Given the description of an element on the screen output the (x, y) to click on. 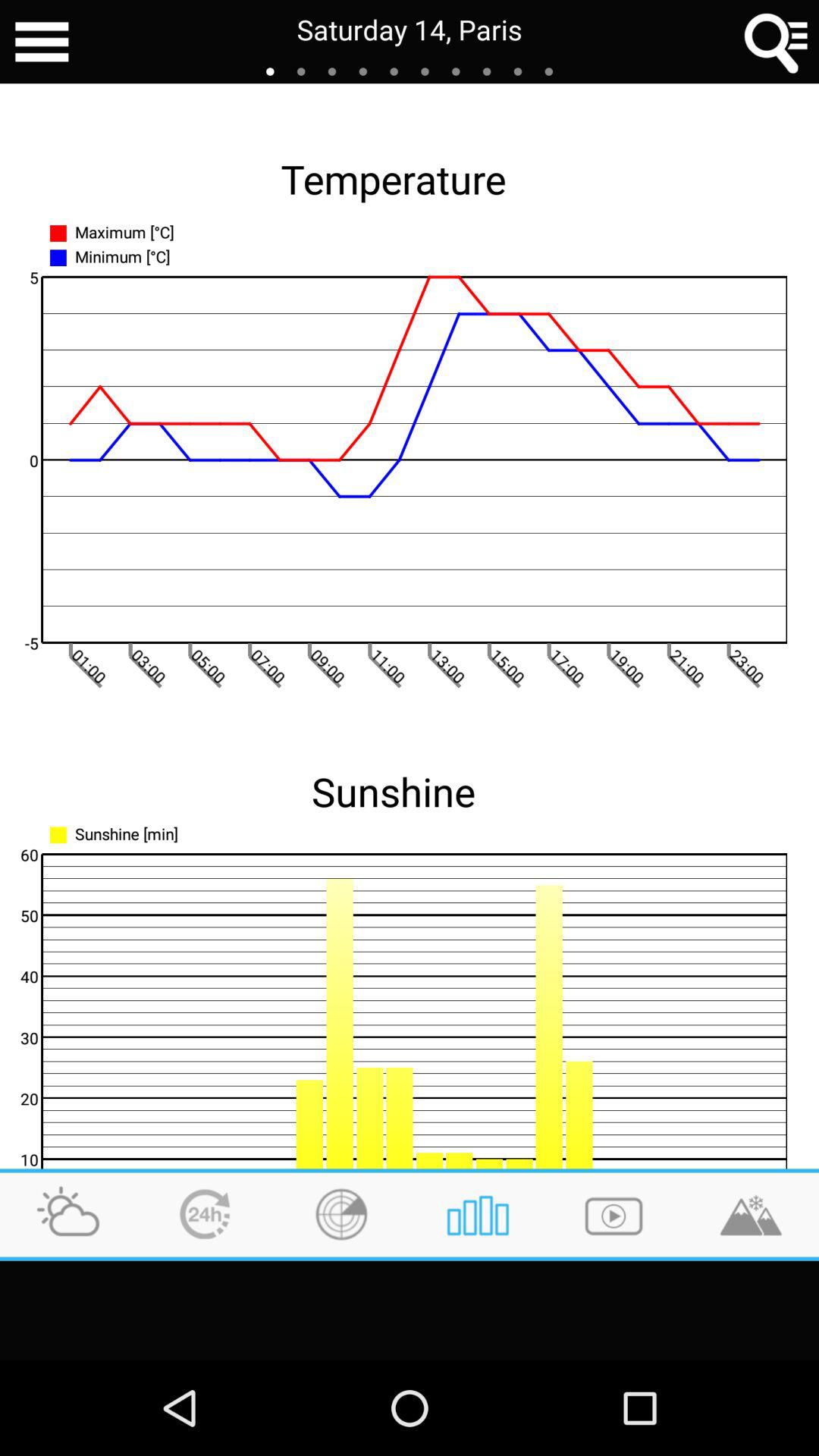
open search (777, 41)
